Given the description of an element on the screen output the (x, y) to click on. 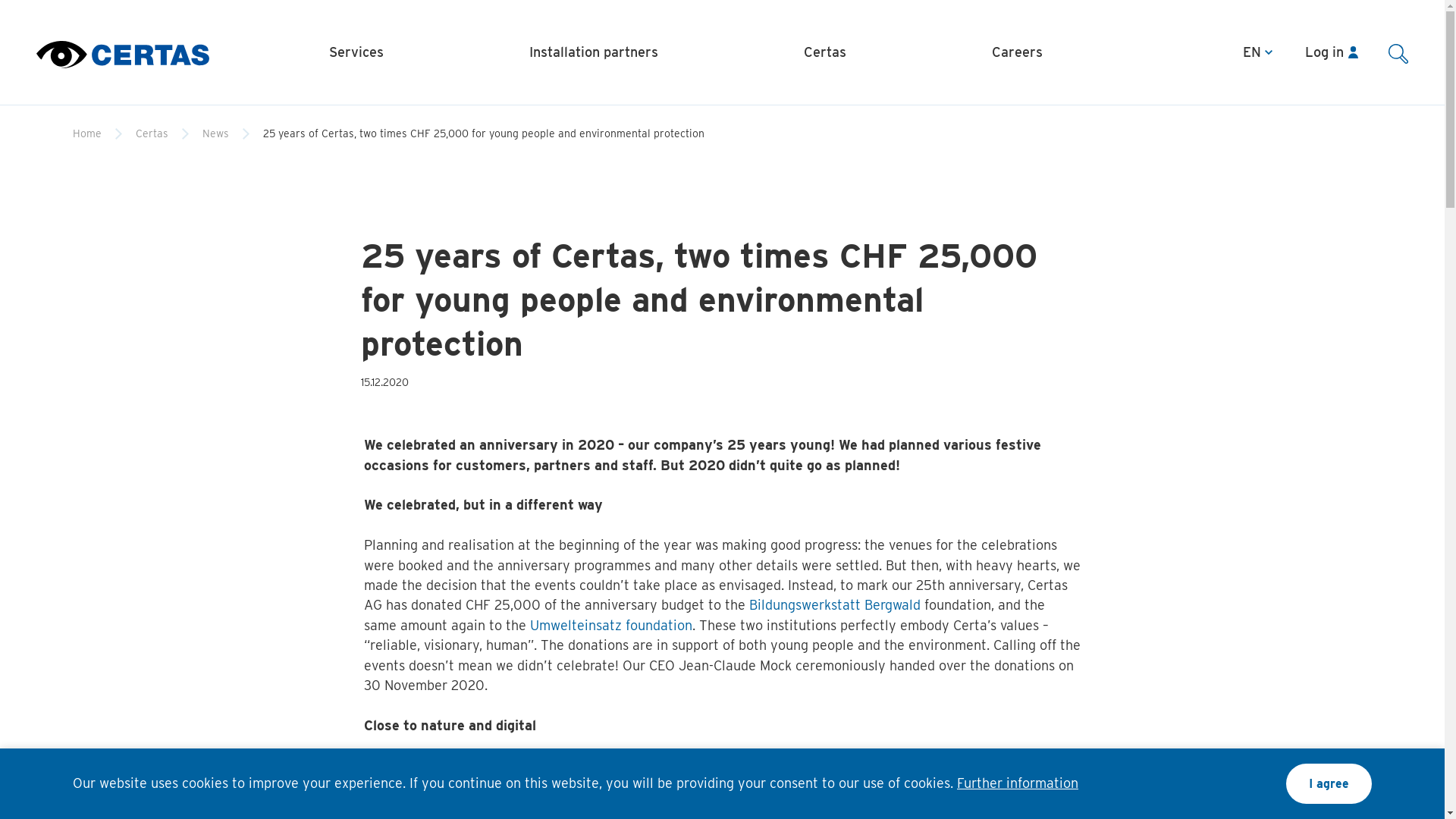
Bildungswerkstatt Bergwald Element type: text (834, 604)
Home Element type: text (86, 133)
Services Element type: text (356, 52)
Further information Element type: text (1017, 782)
Certas Element type: text (151, 133)
Logo Certas Element type: text (122, 52)
Umwelteinsatz foundation Element type: text (611, 625)
News Element type: text (215, 133)
Log in Element type: text (1331, 51)
Installation partners Element type: text (593, 52)
Careers Element type: text (1016, 52)
I agree Element type: text (1328, 783)
Certas Element type: text (824, 52)
EN Element type: text (1270, 52)
